Given the description of an element on the screen output the (x, y) to click on. 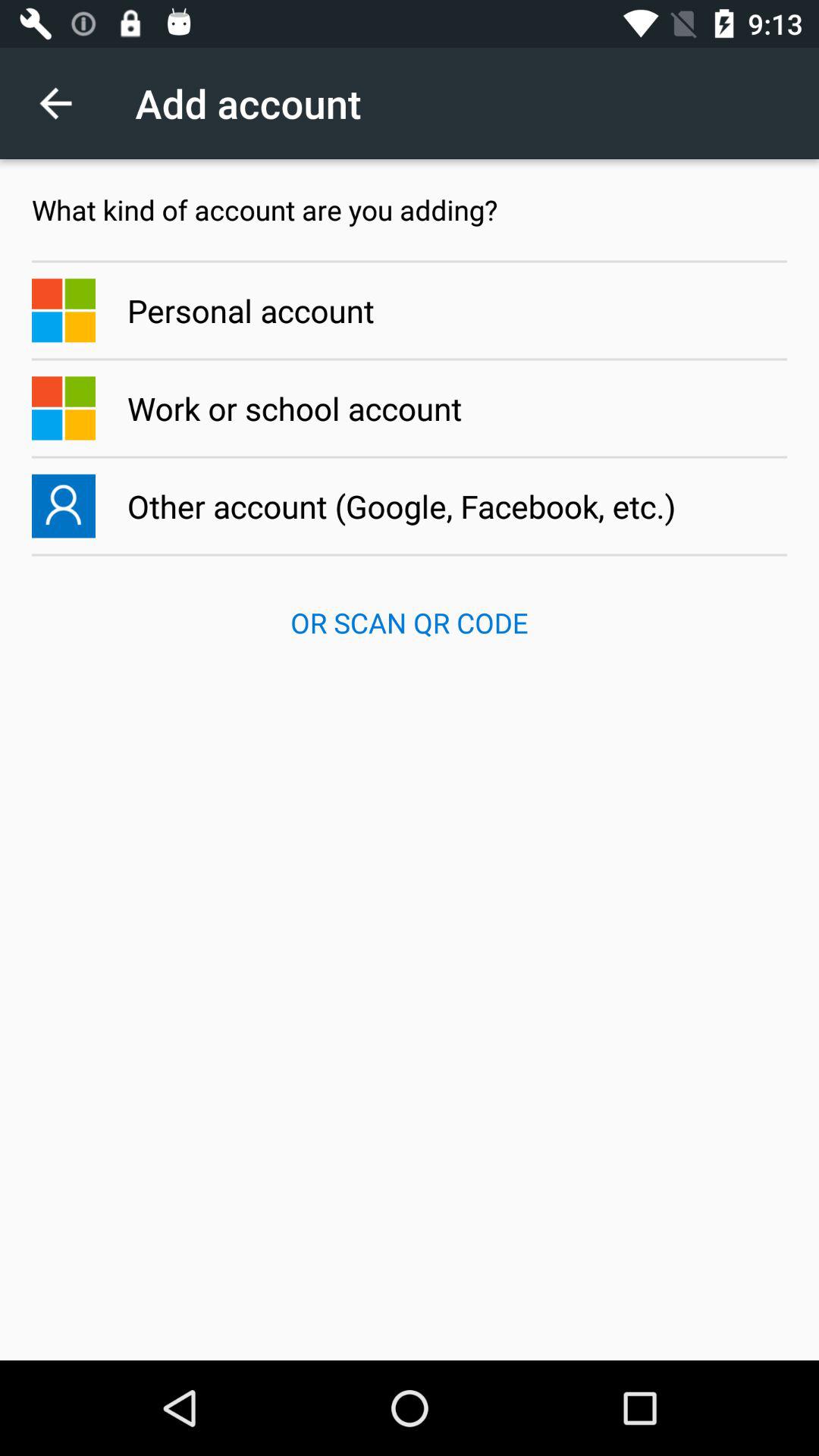
flip until work or school item (409, 408)
